Given the description of an element on the screen output the (x, y) to click on. 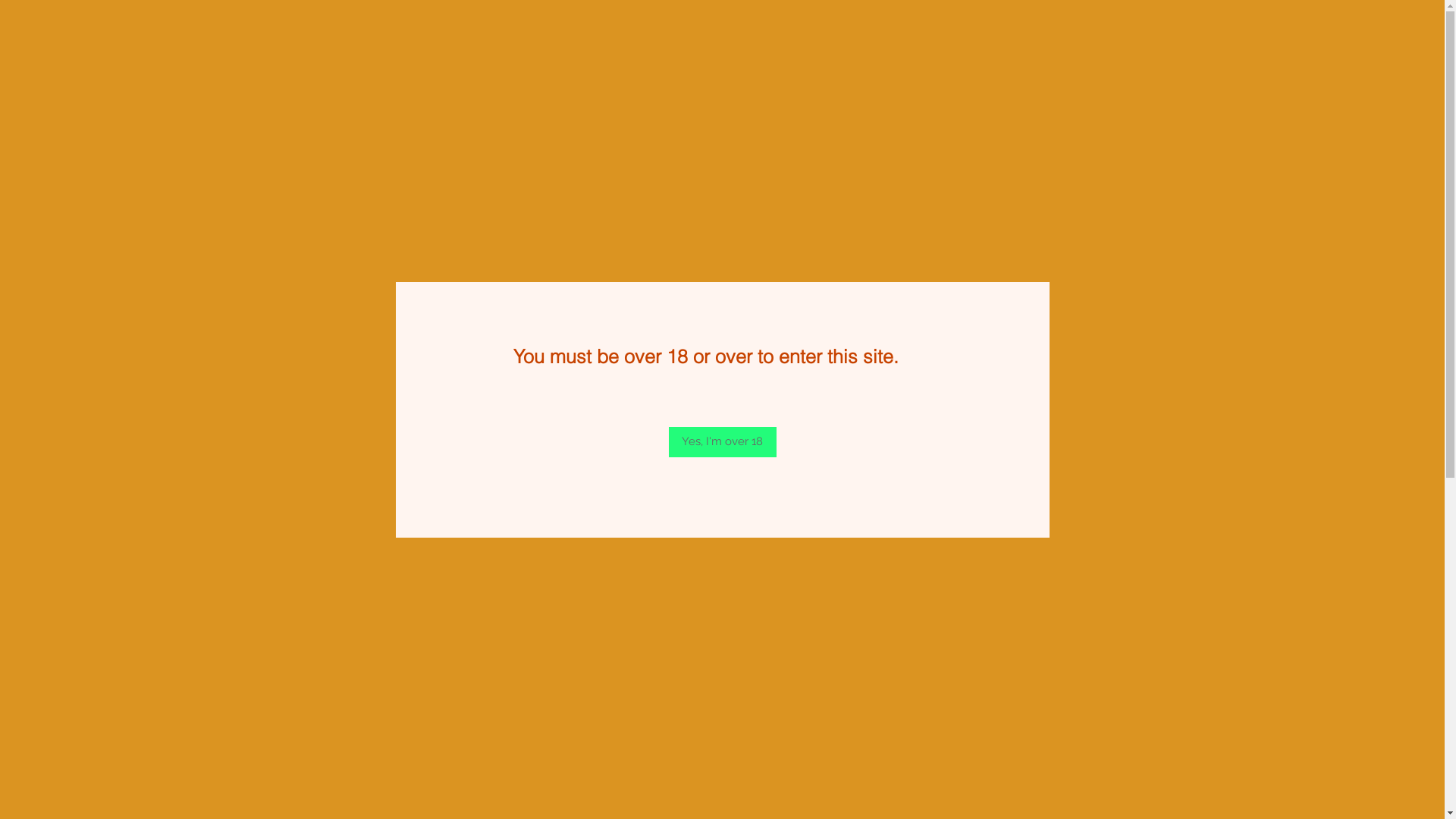
SHOP Element type: text (685, 246)
HOME Element type: text (478, 246)
ACCOMMODATION Element type: text (928, 246)
0 Element type: text (1071, 191)
Log In Element type: text (1024, 190)
